Given the description of an element on the screen output the (x, y) to click on. 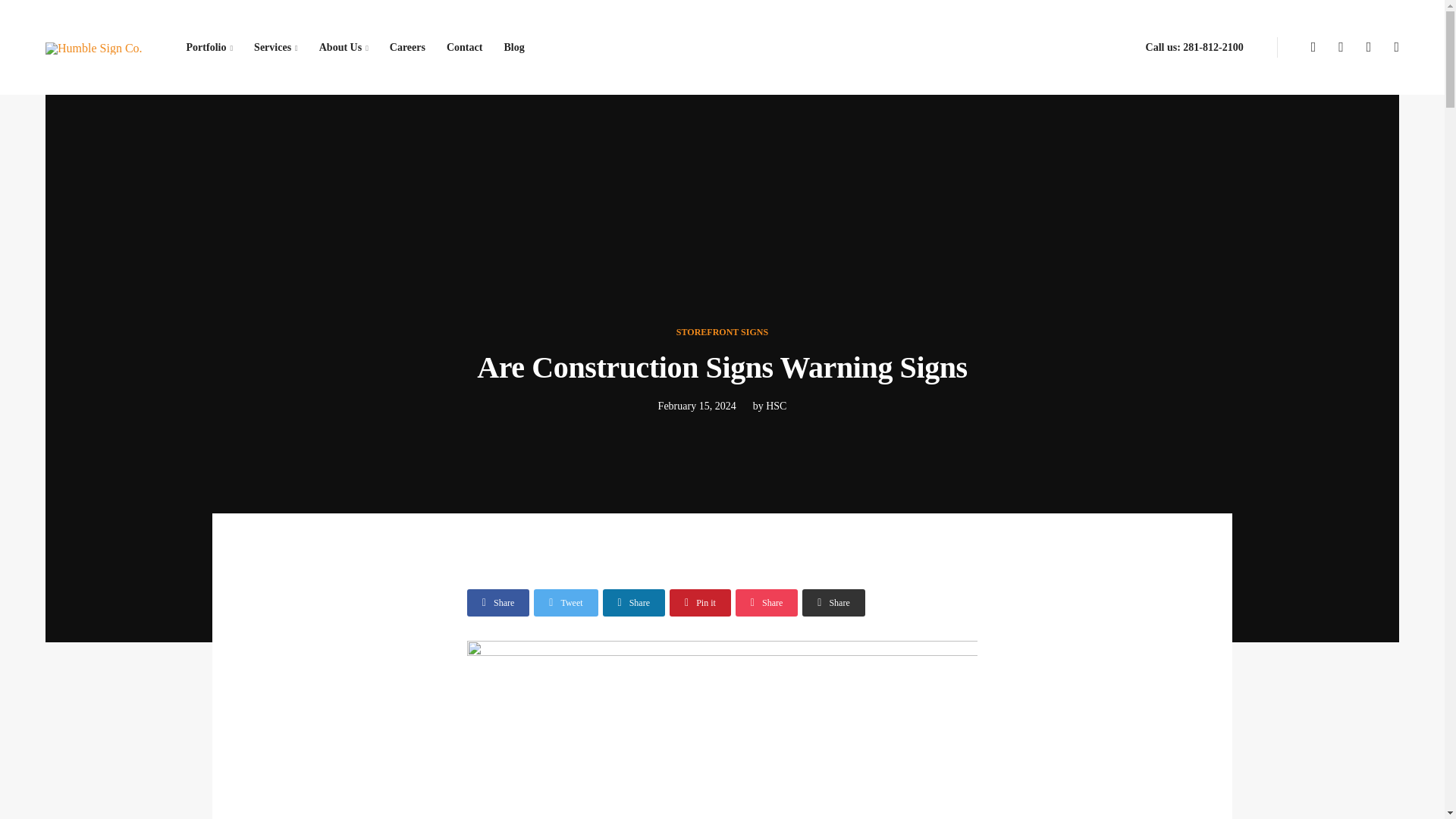
Posts by HSC (775, 405)
Share (498, 602)
STOREFRONT SIGNS (722, 331)
Share (766, 602)
Share (633, 602)
HSC (775, 405)
Pin it (699, 602)
Share (833, 602)
Tweet (565, 602)
281-812-2100 (1212, 47)
